Given the description of an element on the screen output the (x, y) to click on. 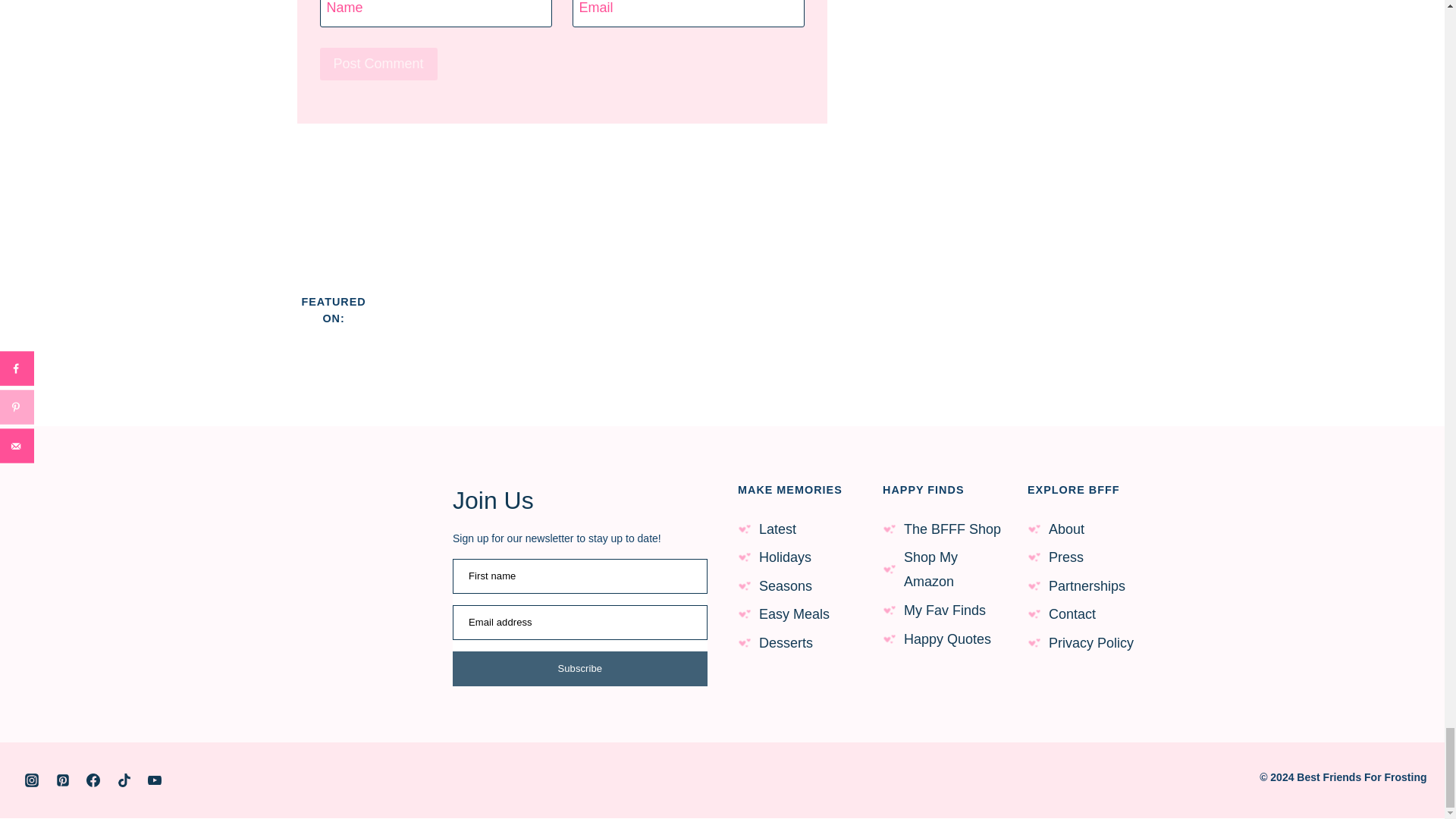
Post Comment (379, 63)
